Given the description of an element on the screen output the (x, y) to click on. 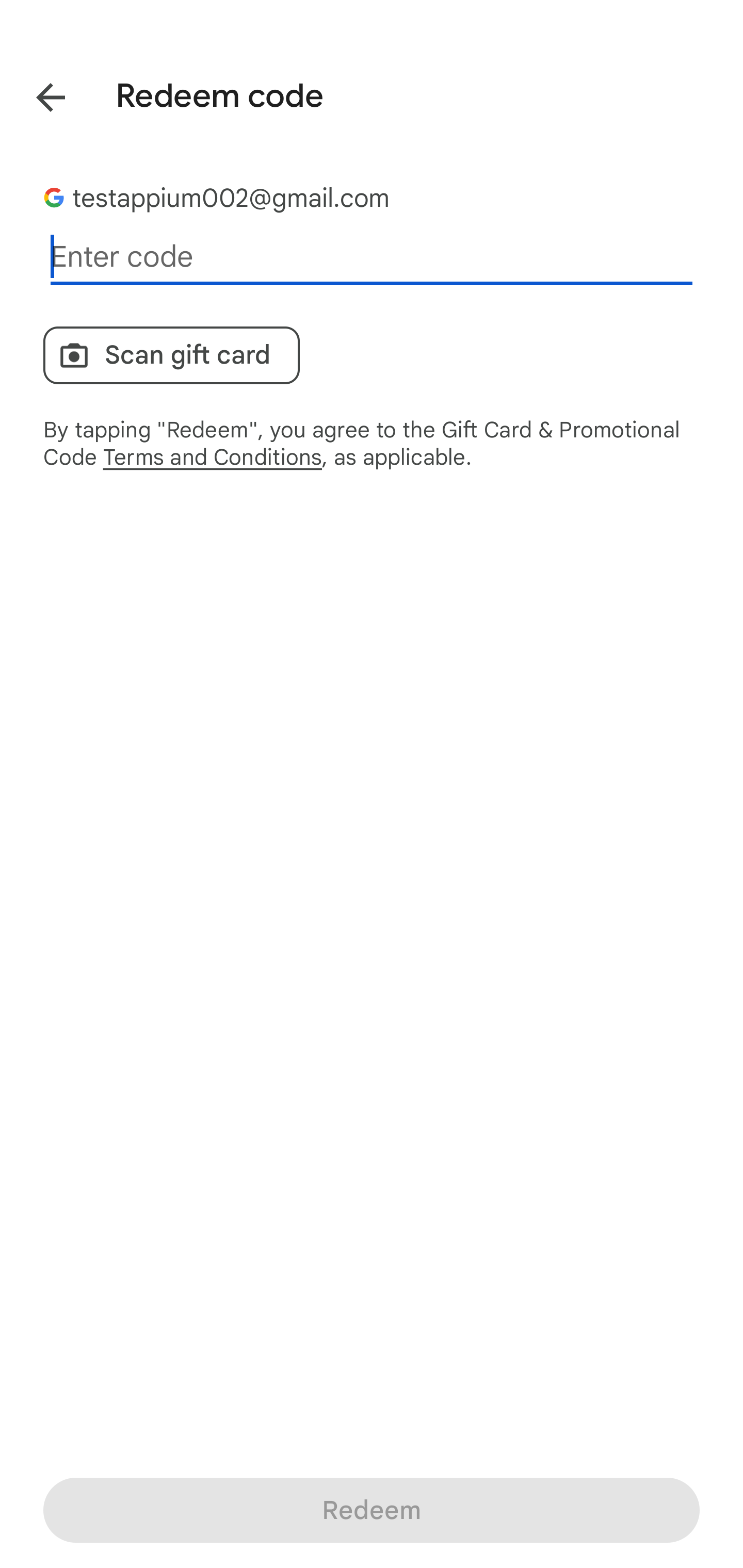
Back (36, 94)
Enter code (371, 256)
Scan gift card (171, 355)
